Given the description of an element on the screen output the (x, y) to click on. 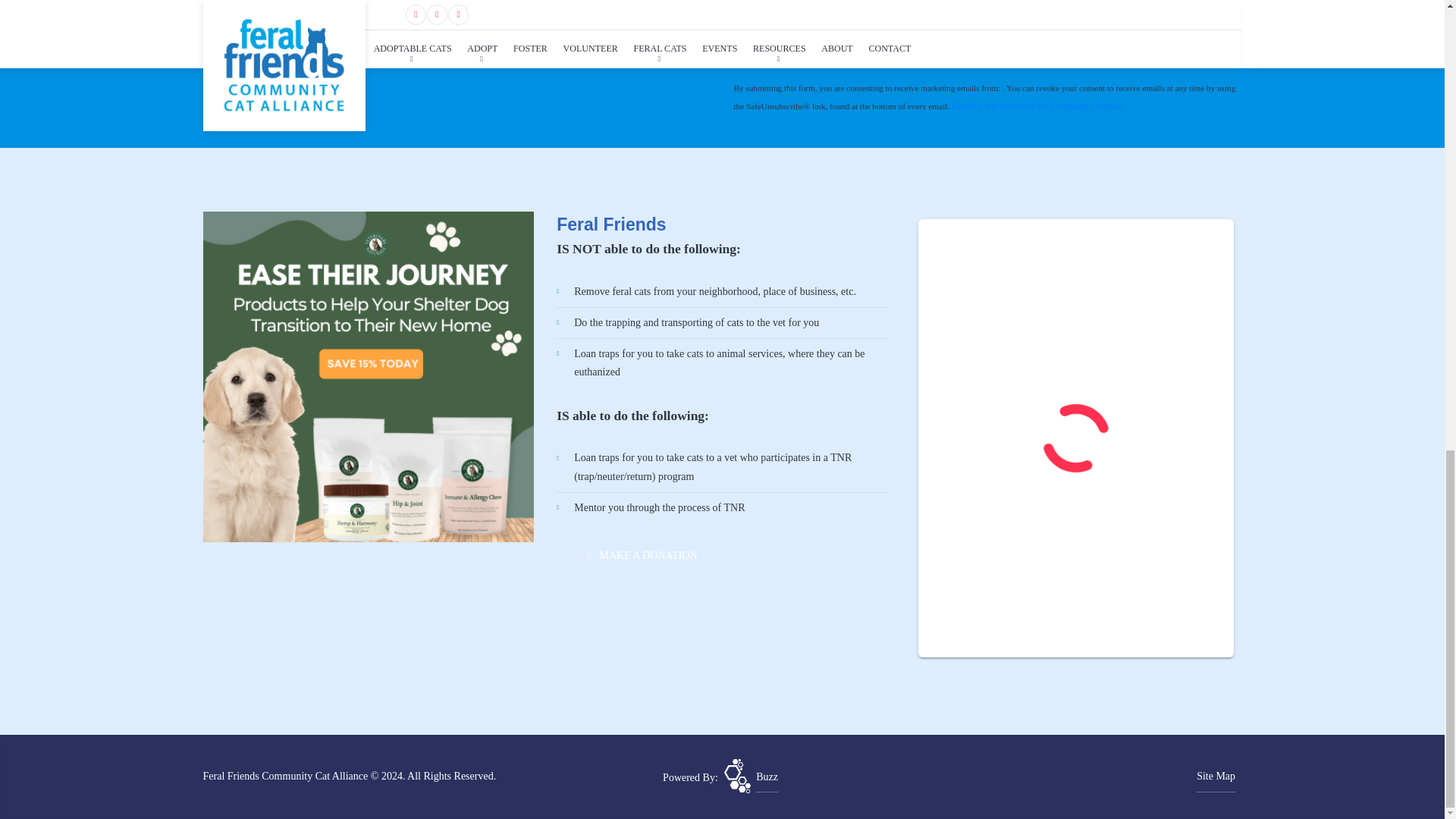
Feral Friends Community Cat Alliance's Sponsor (368, 375)
MAKE A DONATION (634, 555)
Buzz (750, 777)
Rescue Your Rescues (750, 777)
Emails are serviced by Constant Contact (1038, 105)
Site Map (1215, 776)
Sign up (773, 30)
Sign up (773, 30)
Donate (634, 555)
